Given the description of an element on the screen output the (x, y) to click on. 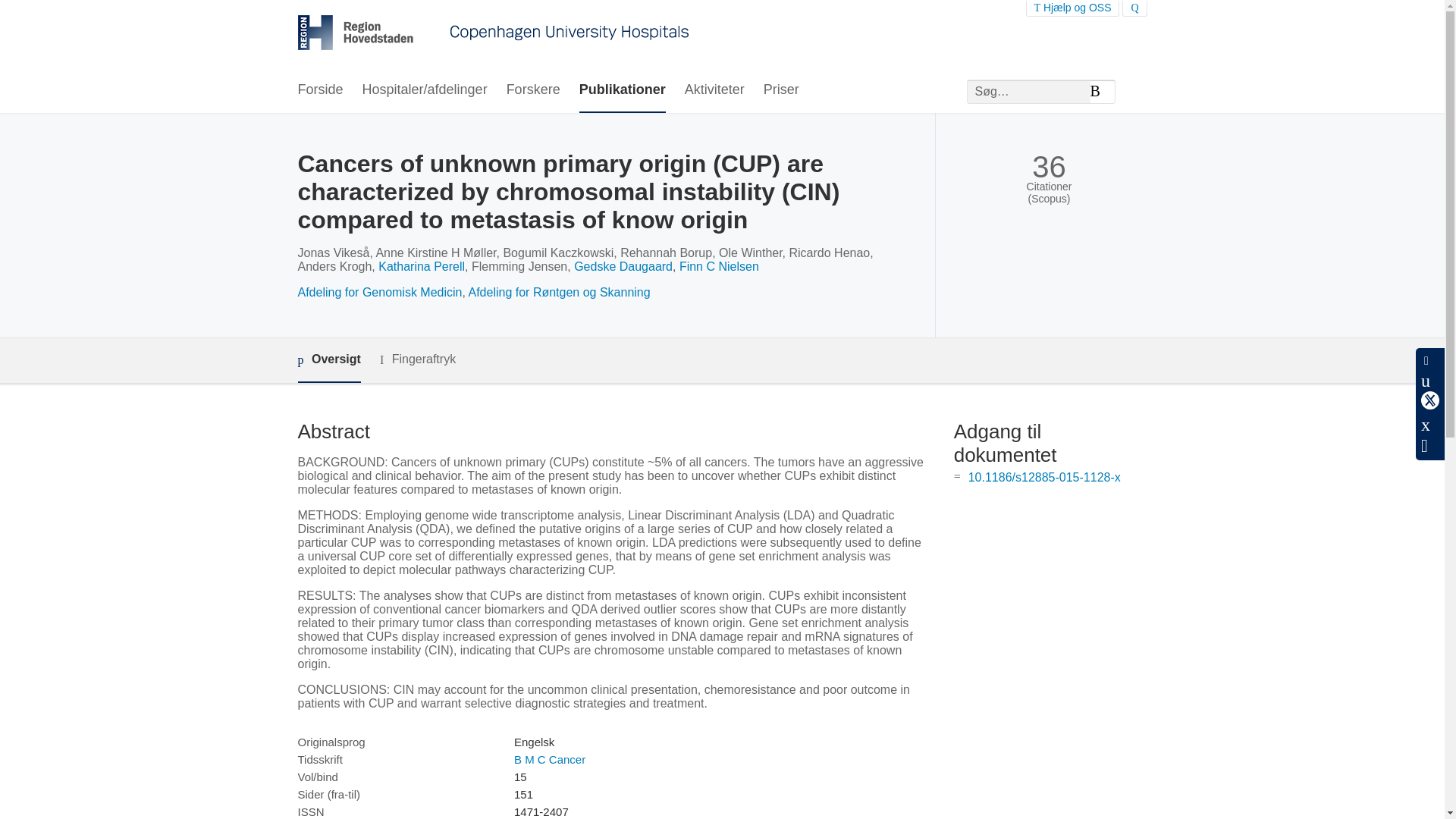
Afdeling for Genomisk Medicin (379, 291)
Gedske Daugaard (622, 266)
Forskere (533, 90)
Oversigt (328, 360)
Fingeraftryk (417, 359)
B M C Cancer (549, 758)
Forside (319, 90)
Finn C Nielsen (718, 266)
Publikationer (622, 90)
Aktiviteter (714, 90)
